Given the description of an element on the screen output the (x, y) to click on. 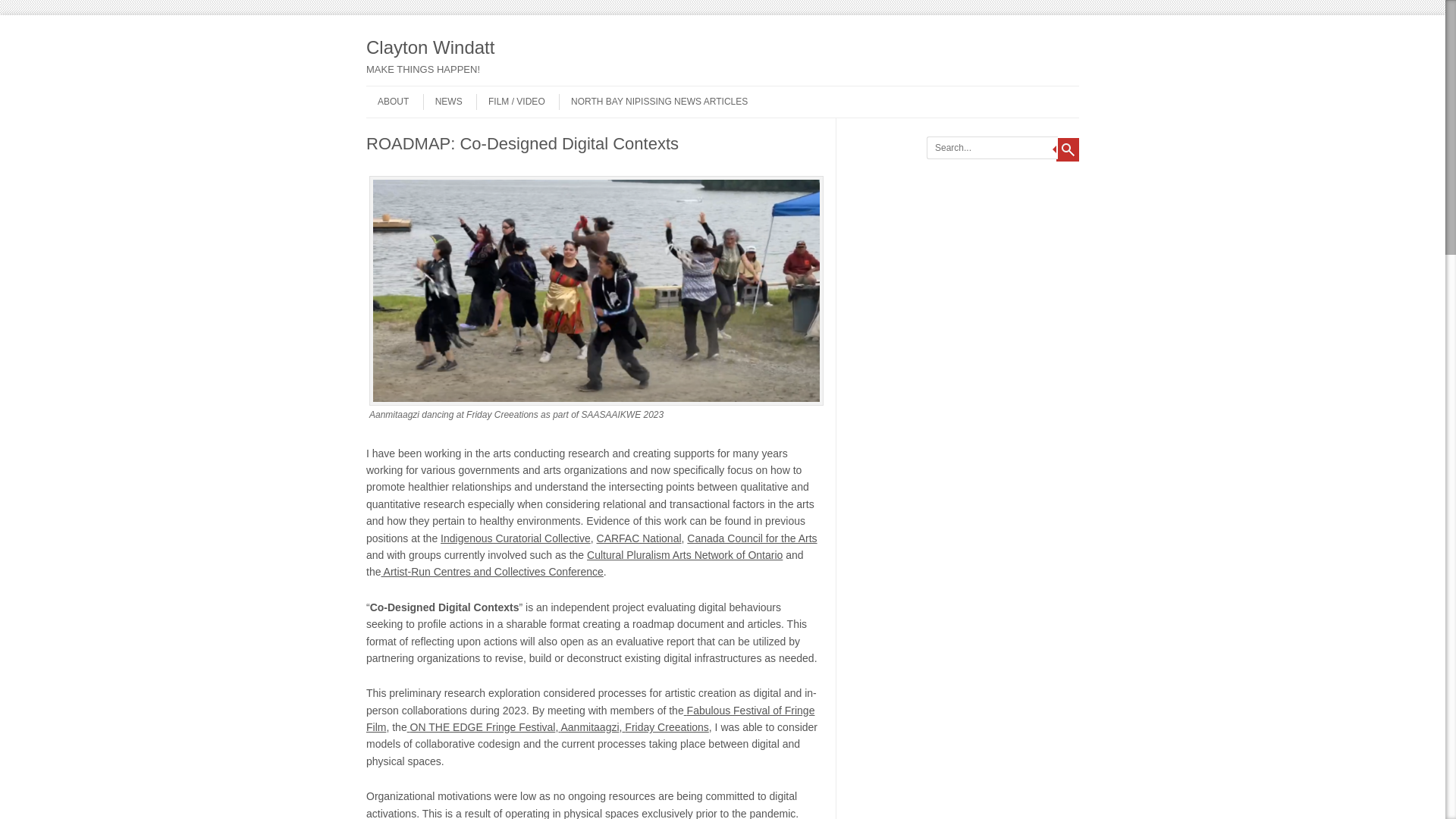
Clayton Windatt (540, 47)
Skip to content (396, 90)
Search (1067, 149)
Fabulous Festival of Fringe Film (589, 718)
Cultural Pluralism Arts Network of Ontario (684, 554)
Clayton Windatt (540, 47)
Canada Council for the Arts (751, 538)
Search (1067, 149)
Aanmitaagzi (587, 727)
ABOUT (387, 101)
